Given the description of an element on the screen output the (x, y) to click on. 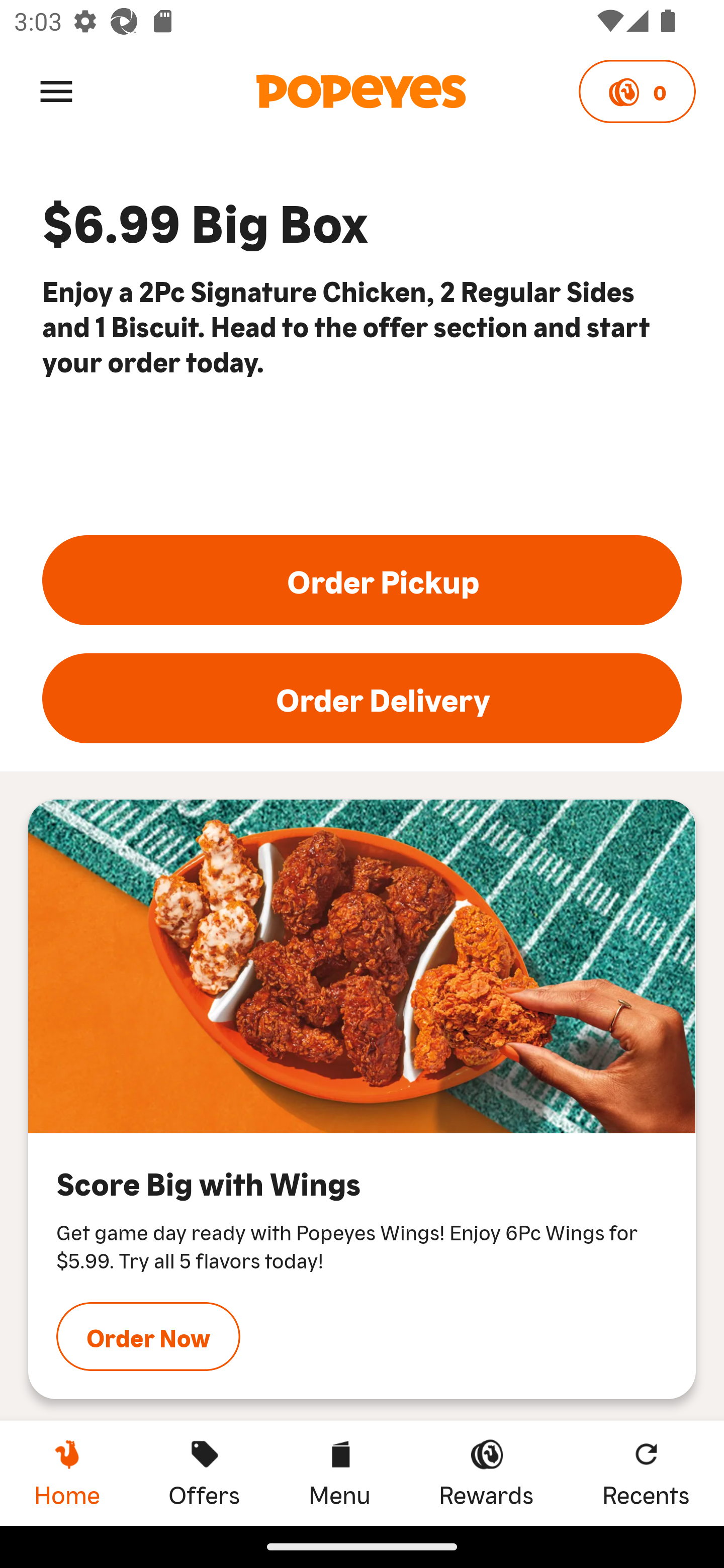
Menu  (56, 90)
0 Points 0 (636, 91)
Order Pickup (361, 579)
Order Delivery (361, 698)
Score Big with Wings (361, 966)
Order Now (148, 1335)
Home, current page Home Home, current page (66, 1472)
Offers Offers Offers (203, 1472)
Menu Menu Menu (339, 1472)
Rewards Rewards Rewards (486, 1472)
Recents Recents Recents (646, 1472)
